Given the description of an element on the screen output the (x, y) to click on. 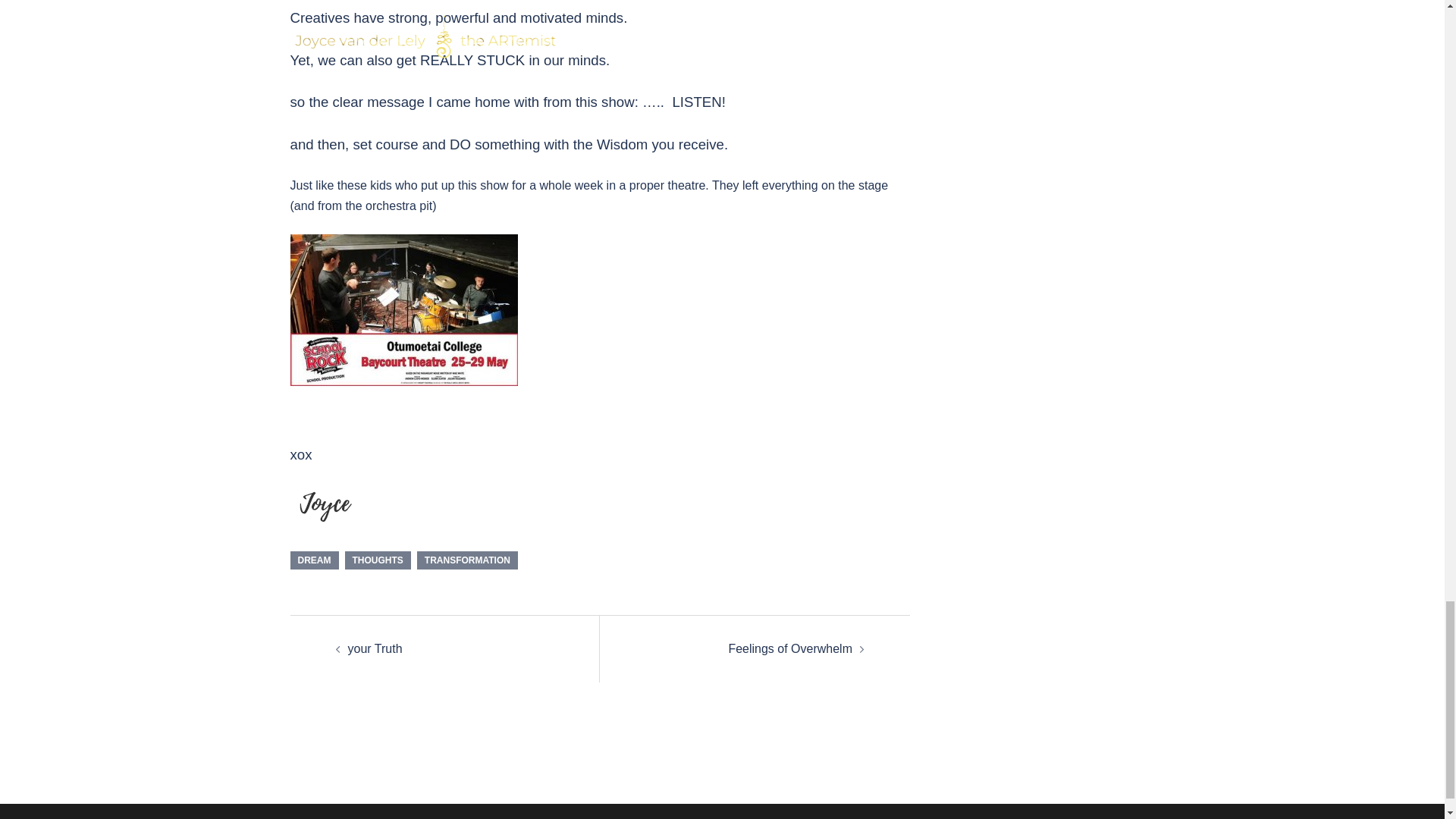
DREAM (313, 560)
your Truth (374, 648)
THOUGHTS (376, 560)
TRANSFORMATION (467, 560)
Feelings of Overwhelm (789, 648)
